Given the description of an element on the screen output the (x, y) to click on. 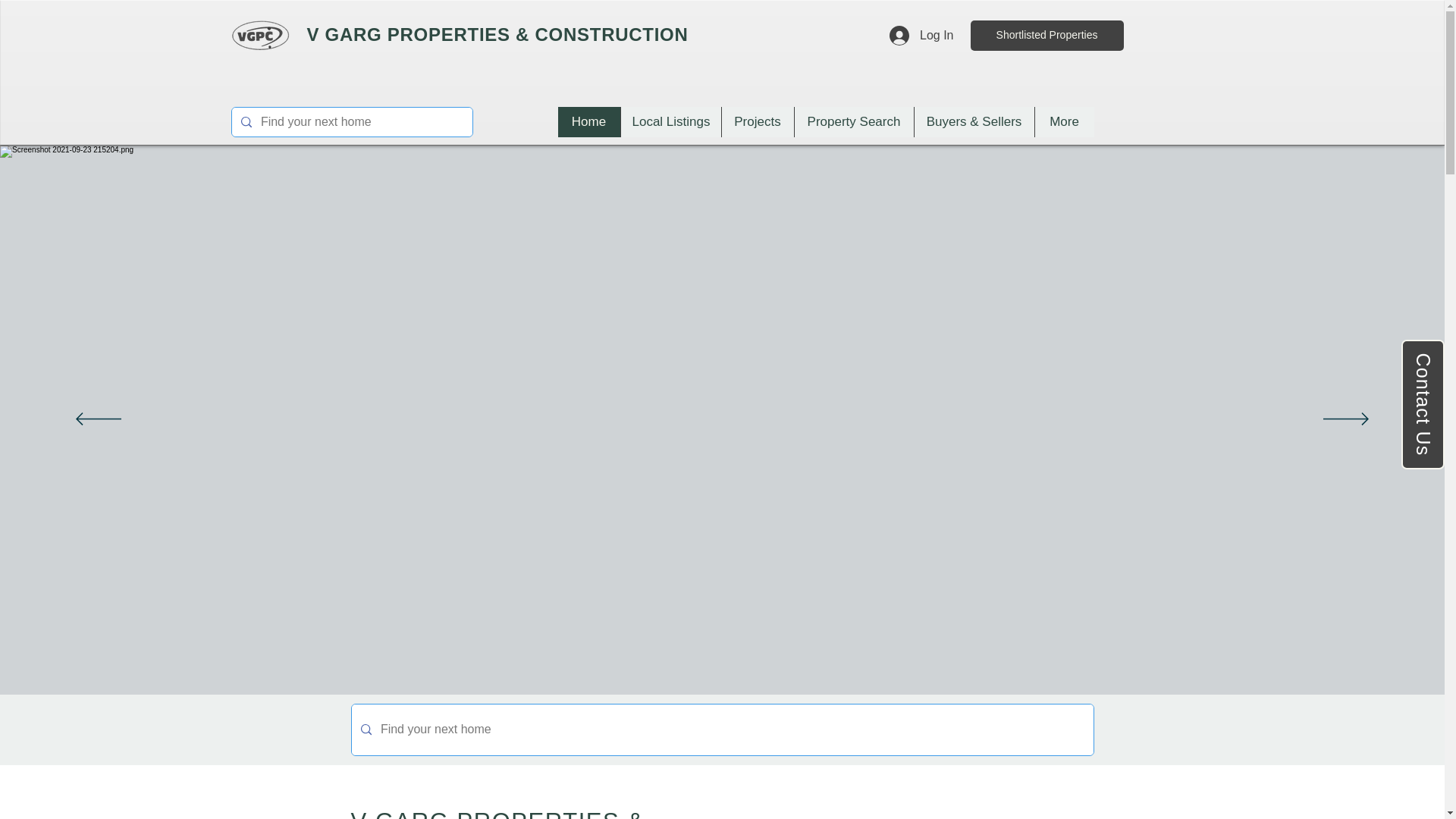
Local Listings (670, 122)
Log In (921, 35)
Projects (756, 122)
Property Search (852, 122)
Shortlisted Properties (1047, 35)
Home (588, 122)
